Given the description of an element on the screen output the (x, y) to click on. 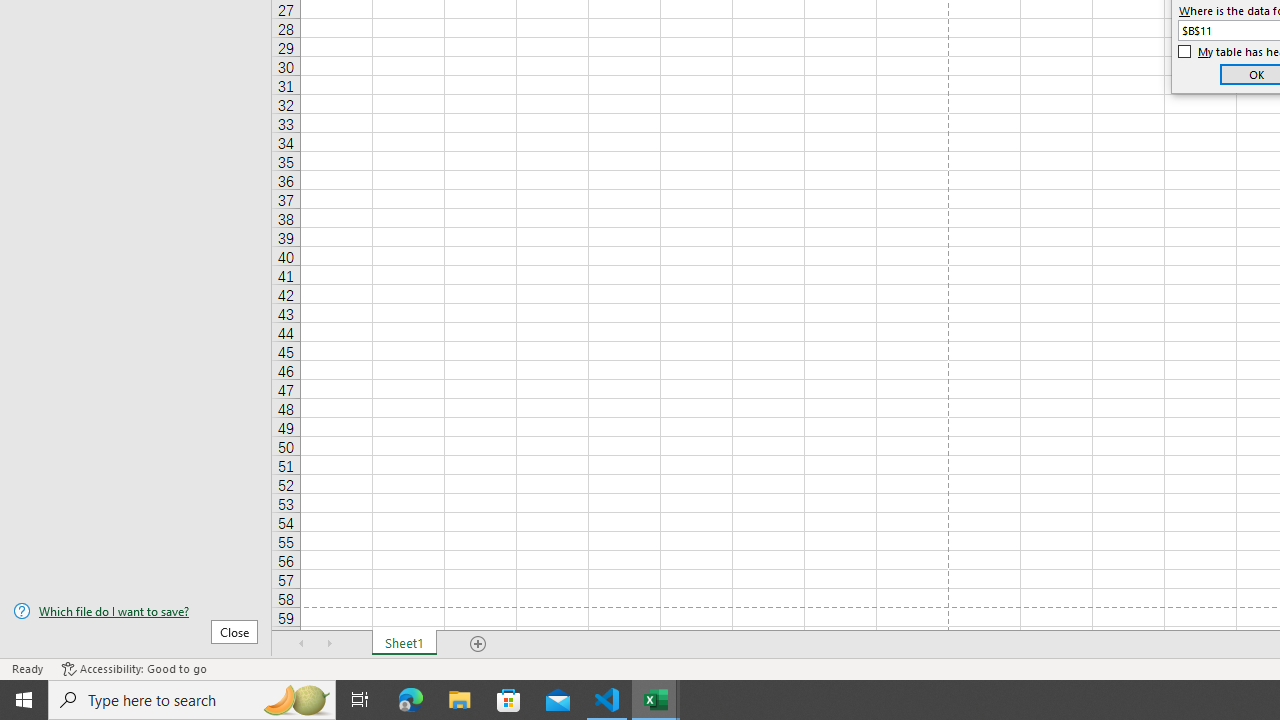
Which file do I want to save? (136, 611)
